Given the description of an element on the screen output the (x, y) to click on. 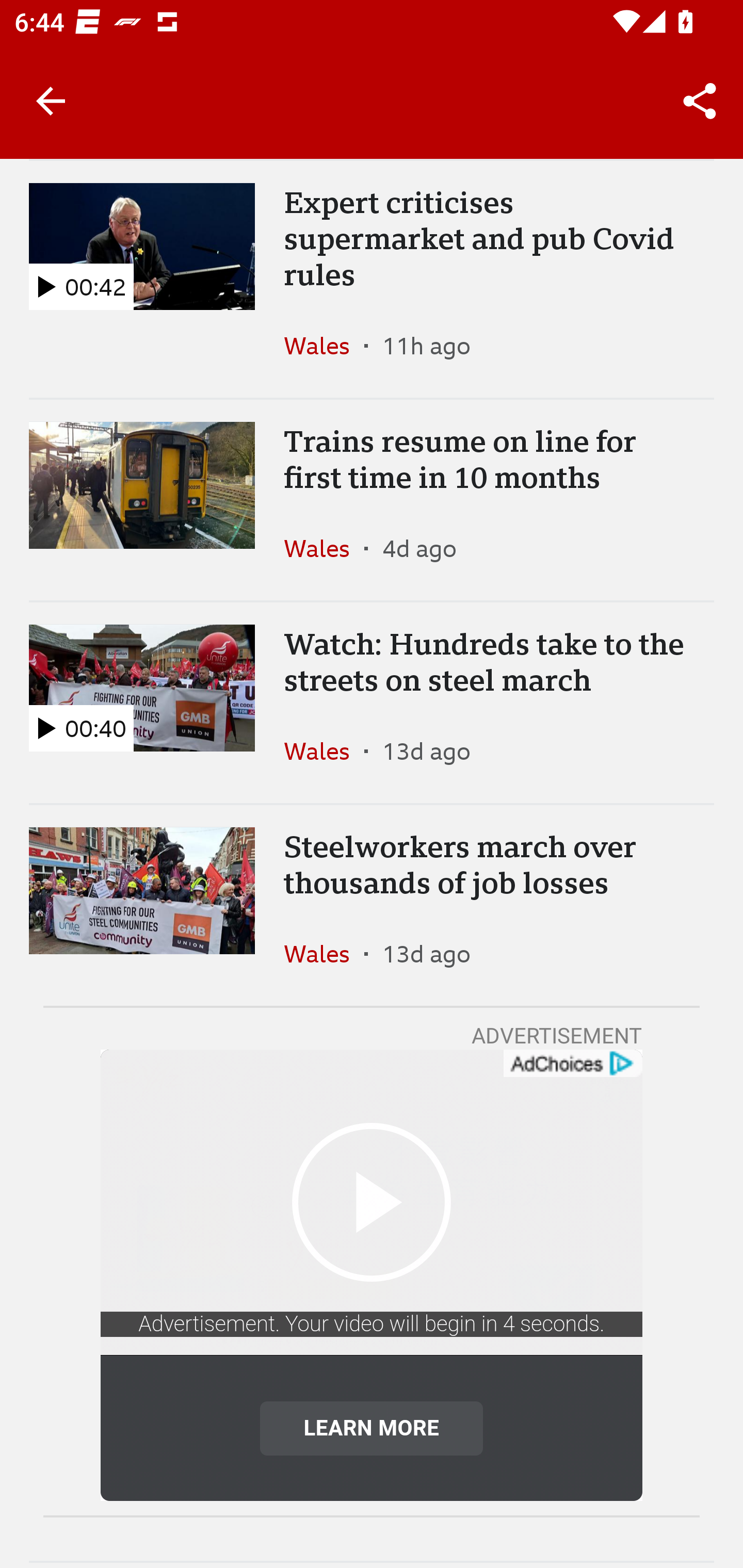
Back (50, 101)
Share (699, 101)
Wales In the section Wales (323, 345)
Wales In the section Wales (323, 547)
Wales In the section Wales (323, 750)
Wales In the section Wales (323, 953)
get?name=admarker-full-tl (571, 1063)
LEARN MORE (371, 1428)
